Given the description of an element on the screen output the (x, y) to click on. 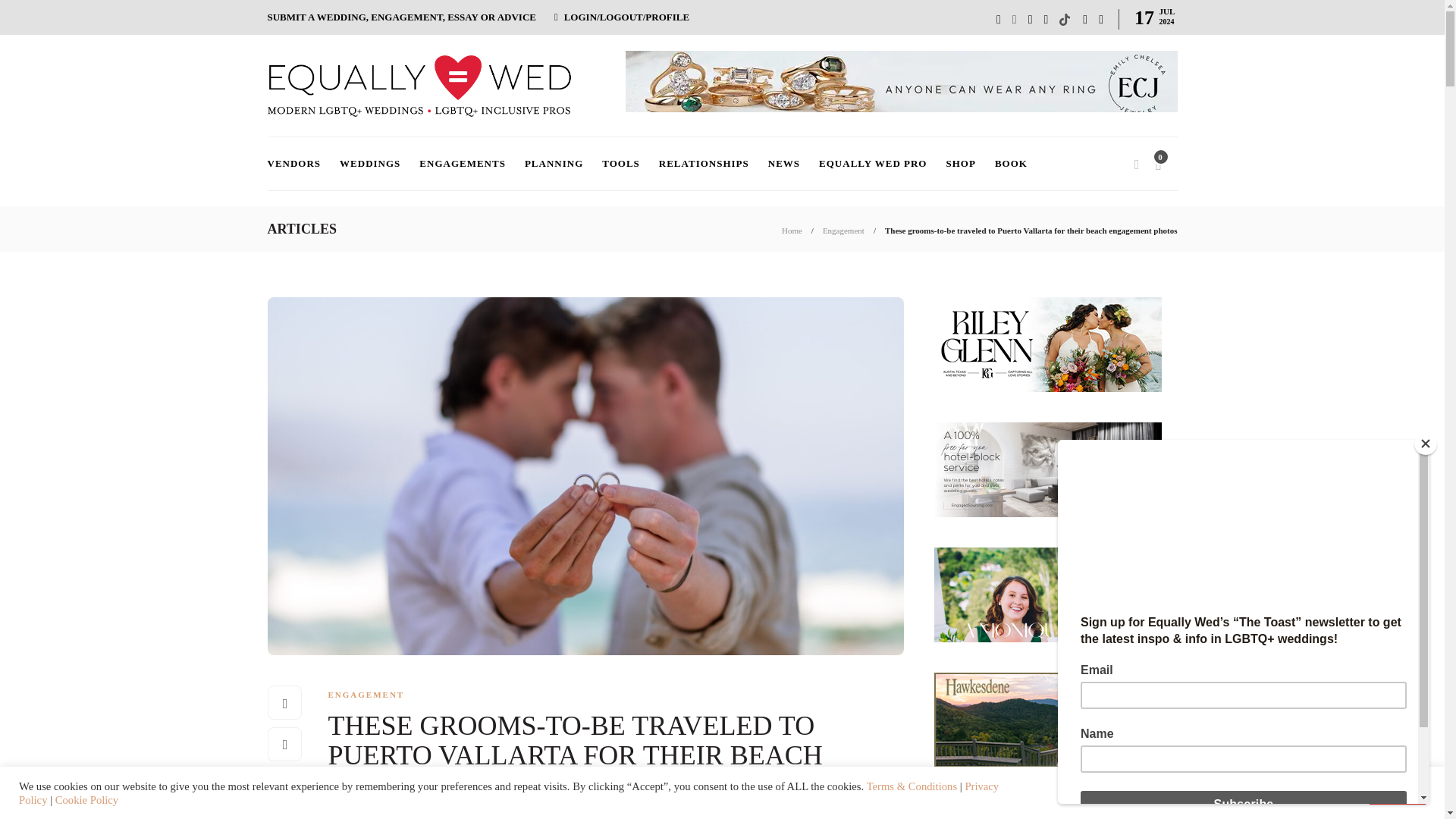
Home (791, 230)
